Given the description of an element on the screen output the (x, y) to click on. 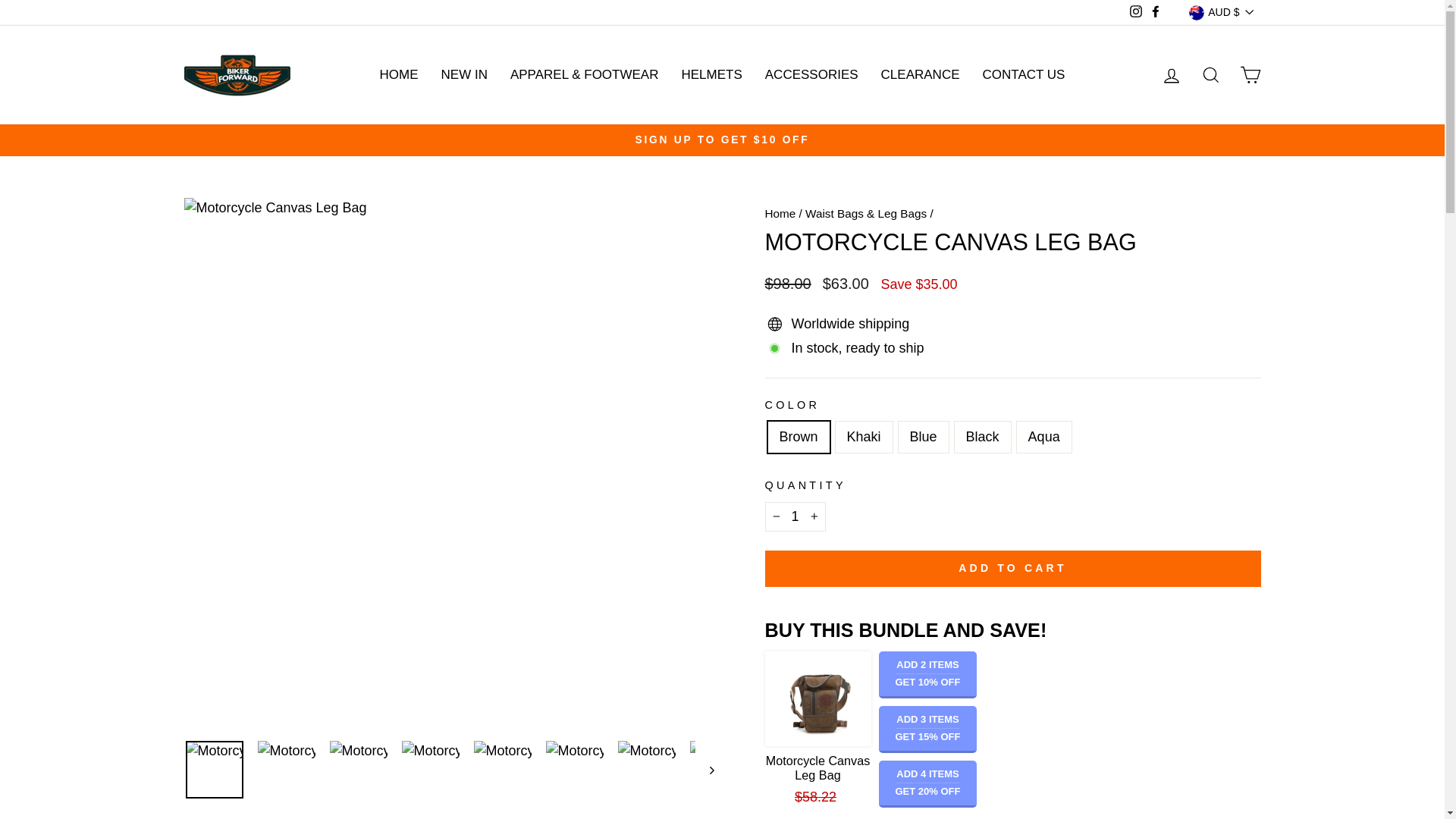
Biker Forward on Facebook (1155, 12)
Biker Forward on Instagram (1135, 12)
Back to the frontpage (779, 213)
1 (794, 516)
